Given the description of an element on the screen output the (x, y) to click on. 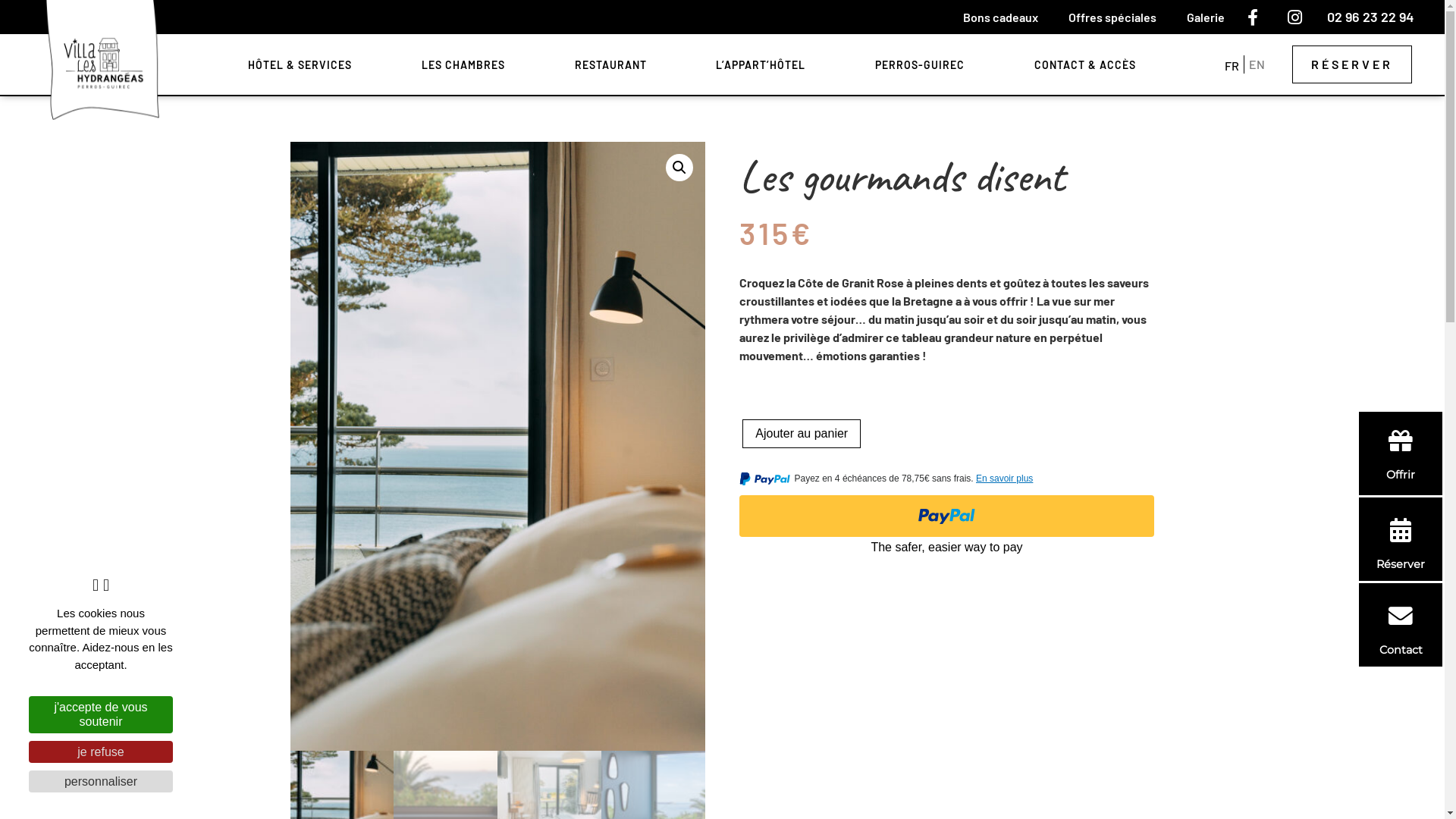
FR Element type: text (1231, 63)
LES CHAMBRES Element type: text (462, 64)
Ajouter au panier Element type: text (801, 433)
Contact Element type: text (1400, 624)
Bons cadeaux Element type: text (1000, 17)
j'accepte de vous soutenir Element type: text (100, 714)
PayPal Message 1 Element type: hover (946, 480)
je refuse Element type: text (100, 751)
RESTAURANT Element type: text (610, 64)
bon-cadeau-hotel-vue-mer-cote-de-granit-rose Element type: hover (496, 445)
PERROS-GUIREC Element type: text (919, 64)
PayPal Element type: hover (946, 526)
personnaliser Element type: text (100, 781)
Galerie Element type: text (1205, 17)
EN Element type: text (1256, 63)
Offrir Element type: text (1400, 453)
